Given the description of an element on the screen output the (x, y) to click on. 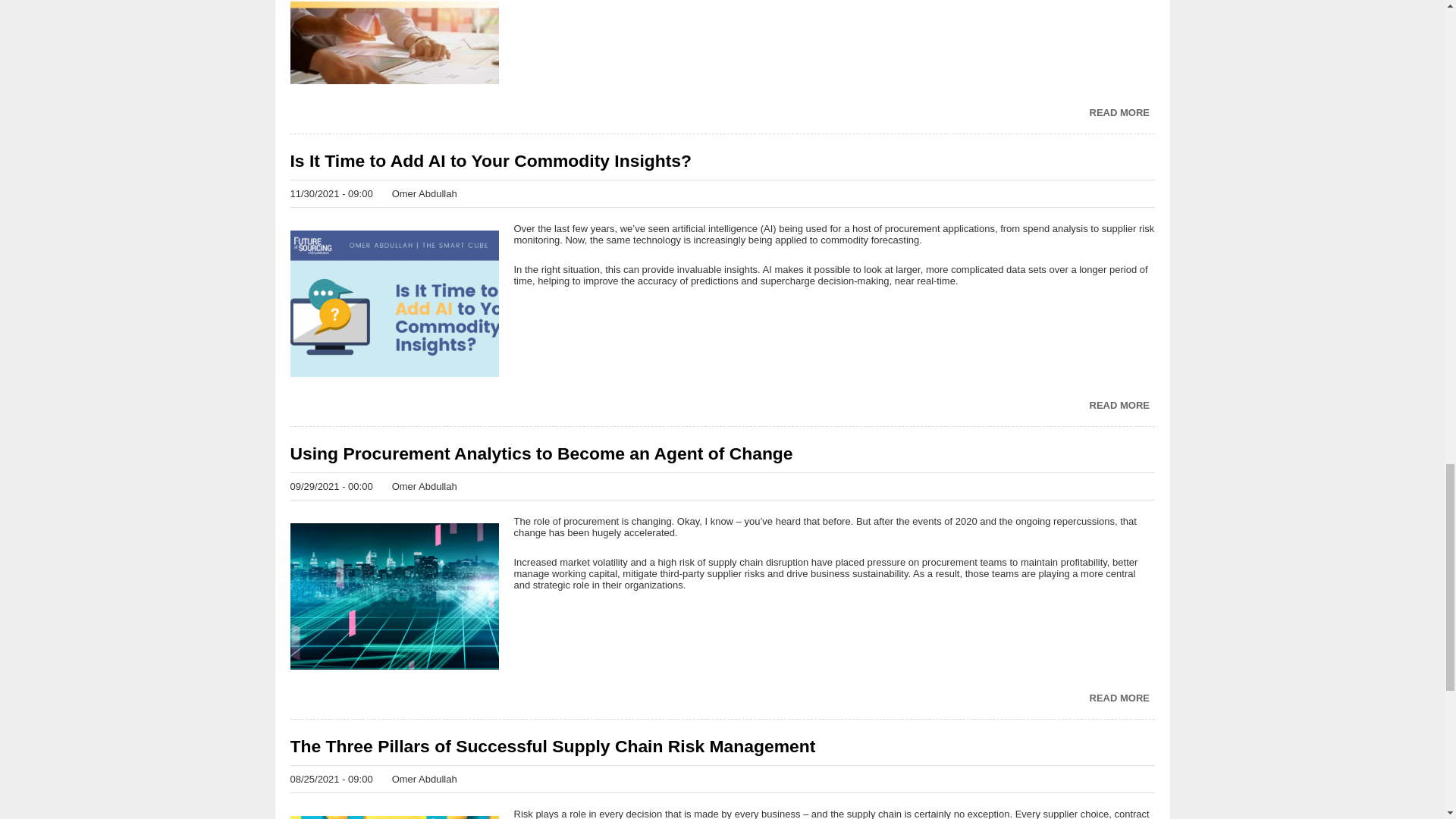
4 Predictions That Will Shape Procurement in 2022 (1119, 112)
Is It Time to Add AI to Your Commodity Insights? (721, 160)
